Given the description of an element on the screen output the (x, y) to click on. 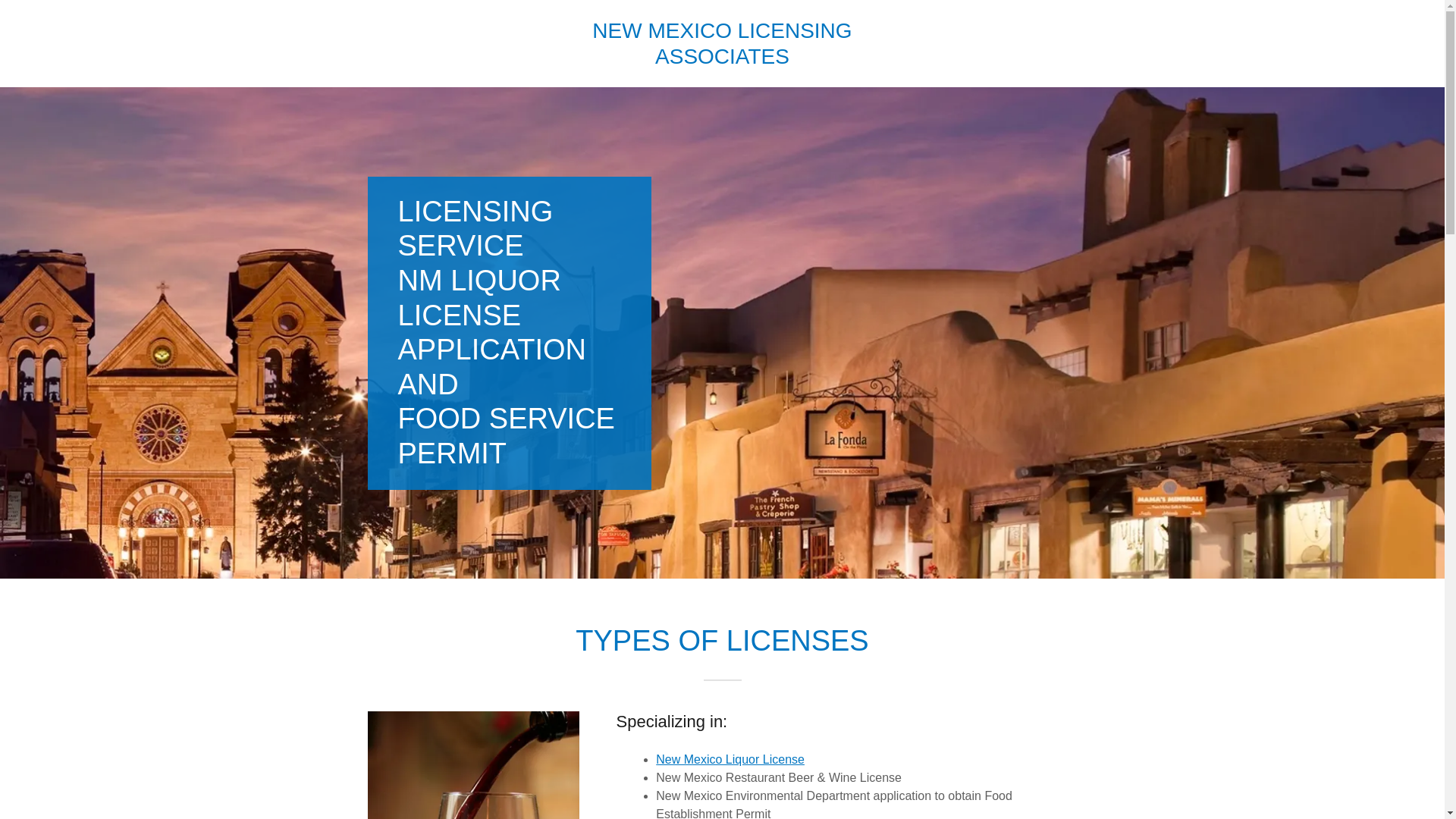
New Mexico Liquor License (730, 758)
New Mexico Licensing Associates (721, 43)
NEW MEXICO LICENSING ASSOCIATES (721, 43)
